Given the description of an element on the screen output the (x, y) to click on. 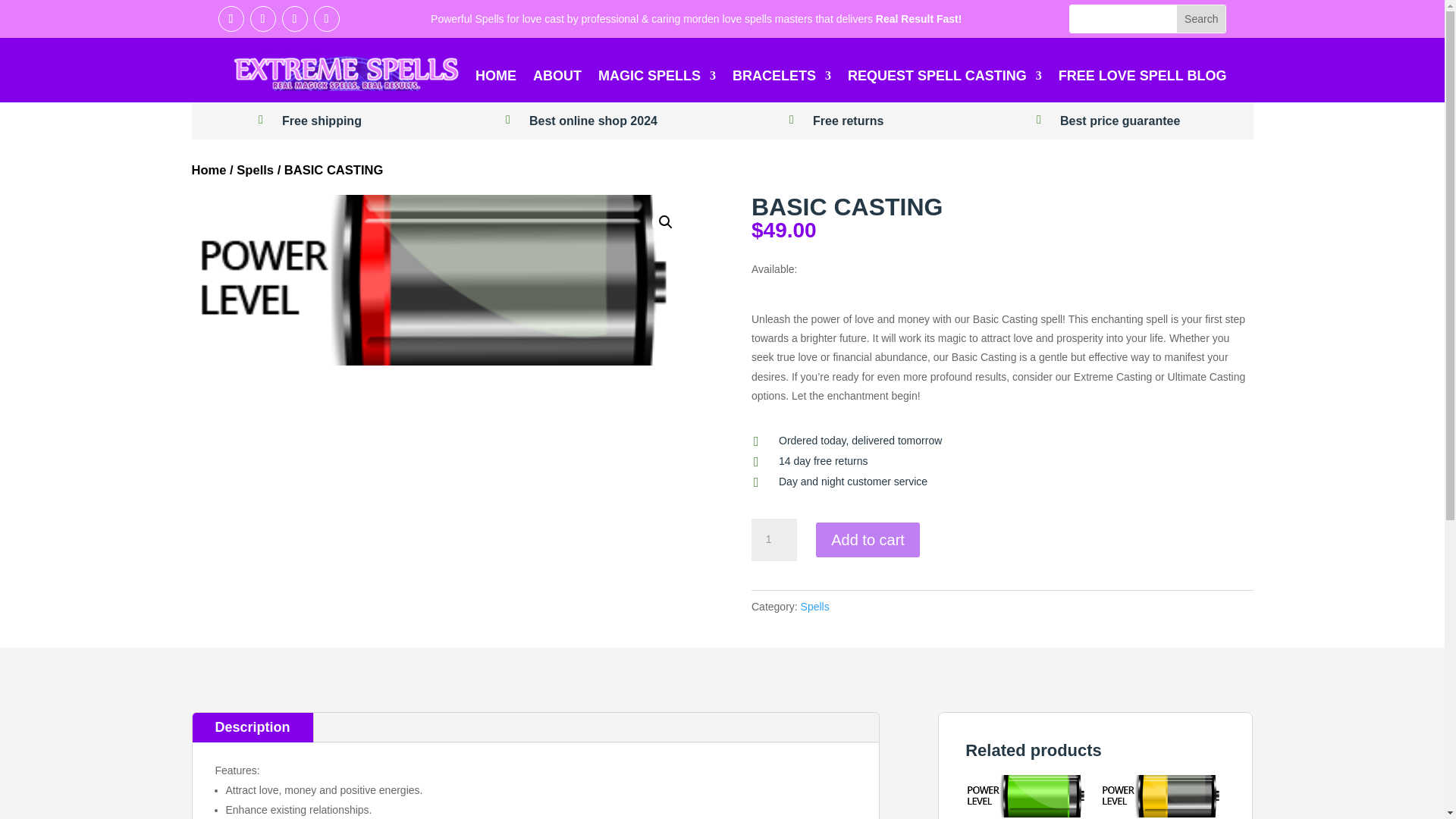
HOME (496, 78)
Follow on Facebook (263, 18)
Search (1200, 18)
Follow on Youtube (294, 18)
Follow on Instagram (326, 18)
Search (1200, 18)
Extreme Spells Logo (338, 69)
Follow on X (231, 18)
Search (1200, 18)
REQUEST SPELL CASTING (944, 78)
MAGIC SPELLS (657, 78)
BRACELETS (781, 78)
FREE LOVE SPELL BLOG (1142, 78)
ABOUT (556, 78)
1 (773, 539)
